Given the description of an element on the screen output the (x, y) to click on. 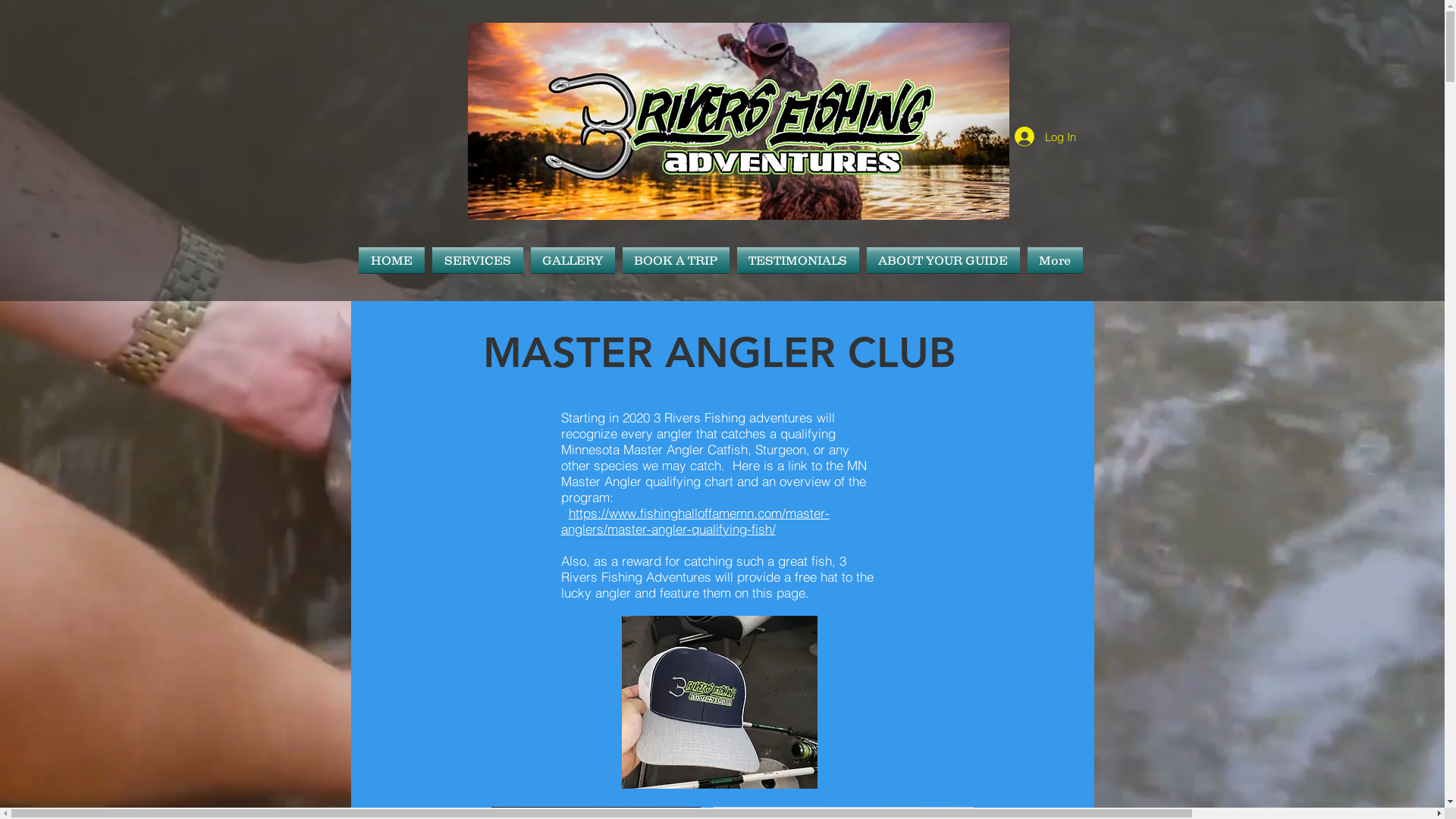
SERVICES Element type: text (476, 260)
HOME Element type: text (392, 260)
ABOUT YOUR GUIDE Element type: text (942, 260)
GALLERY Element type: text (572, 260)
Log In Element type: text (1045, 136)
BOOK A TRIP Element type: text (675, 260)
TESTIMONIALS Element type: text (797, 260)
